Given the description of an element on the screen output the (x, y) to click on. 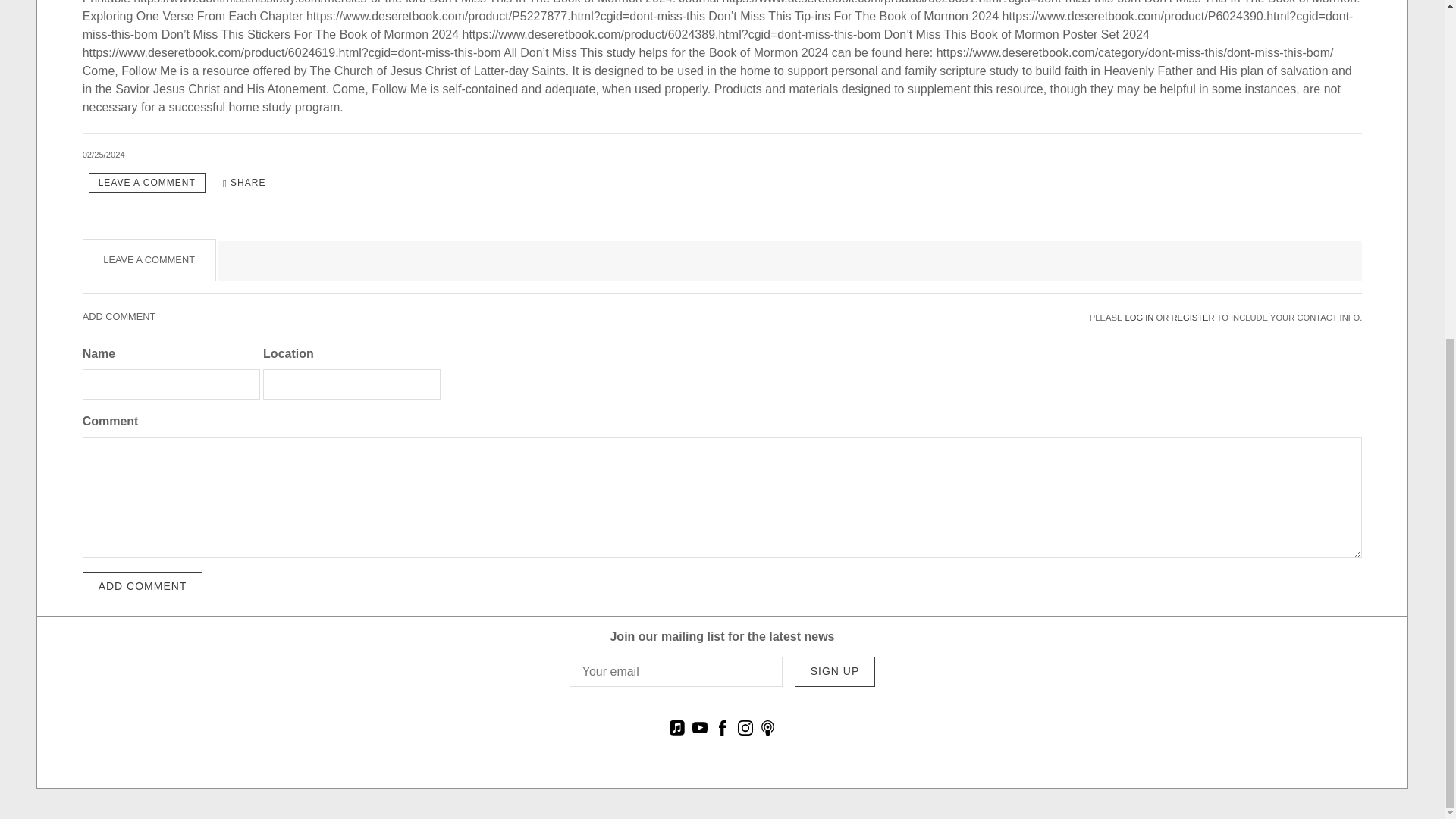
SHARE (244, 181)
February 25, 2024 18:13 (103, 153)
Leave a comment (146, 182)
LEAVE A COMMENT (146, 182)
